Given the description of an element on the screen output the (x, y) to click on. 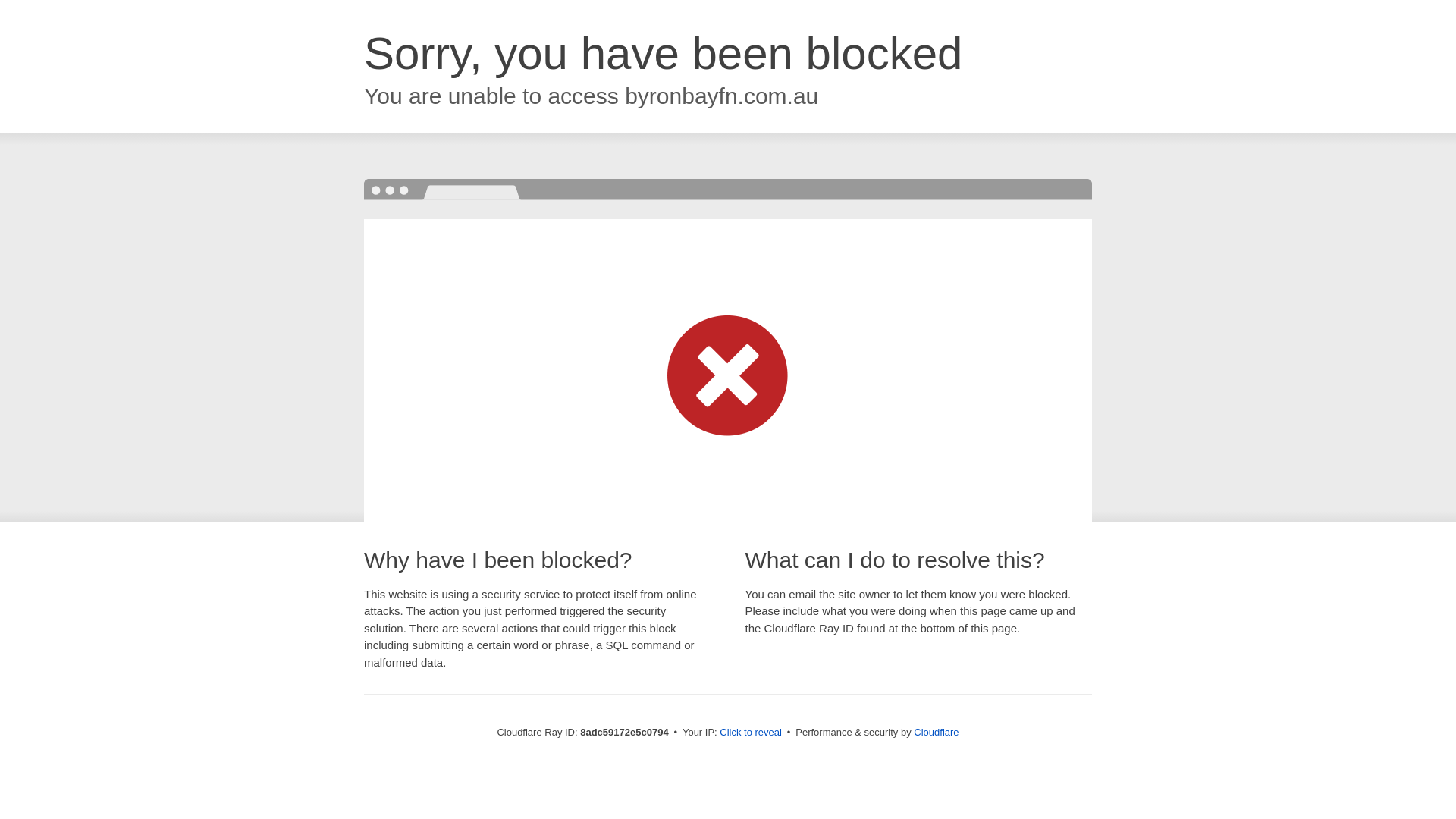
Cloudflare (936, 731)
Click to reveal (750, 732)
